Given the description of an element on the screen output the (x, y) to click on. 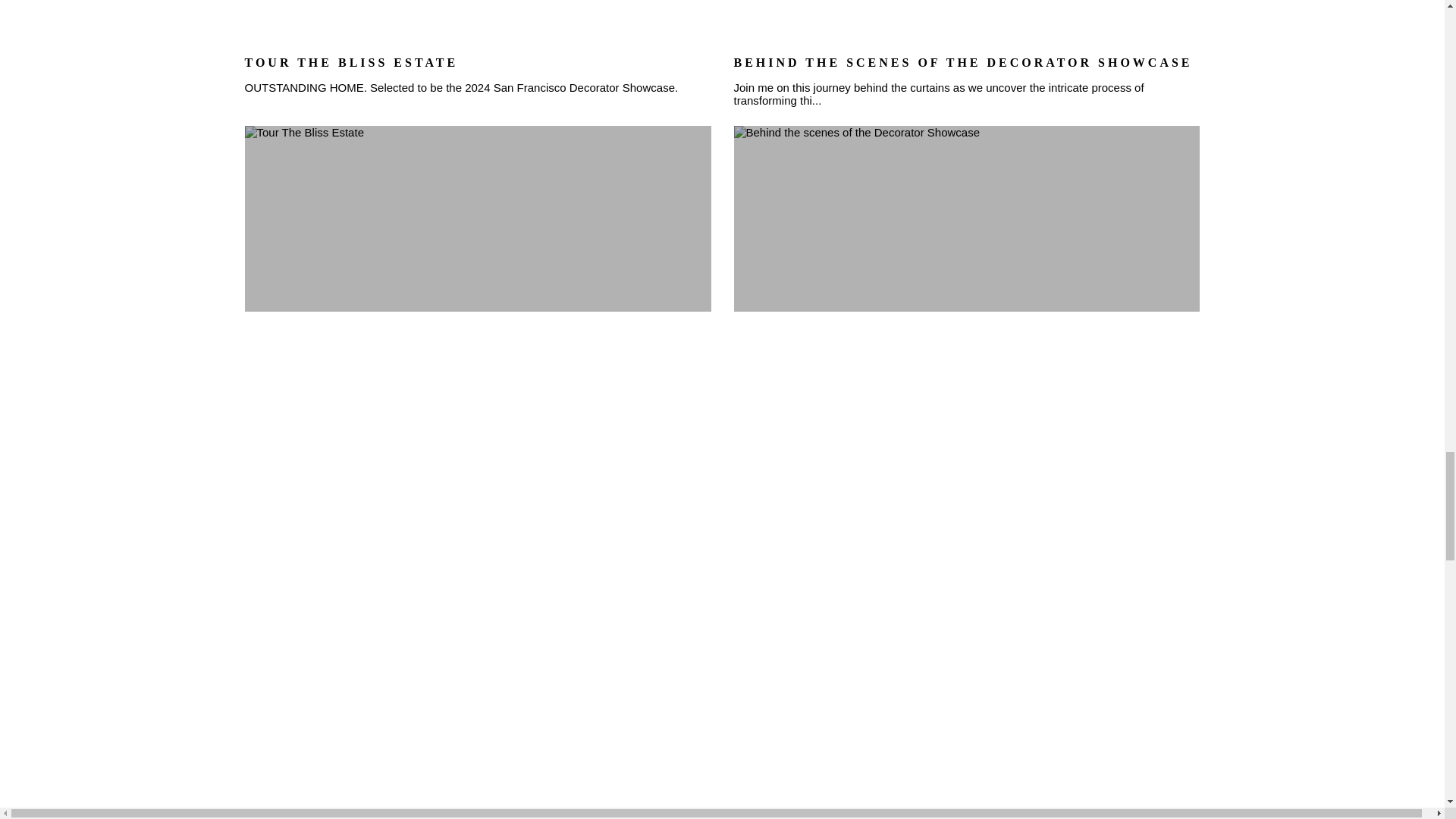
CONTACT ME (721, 781)
